Given the description of an element on the screen output the (x, y) to click on. 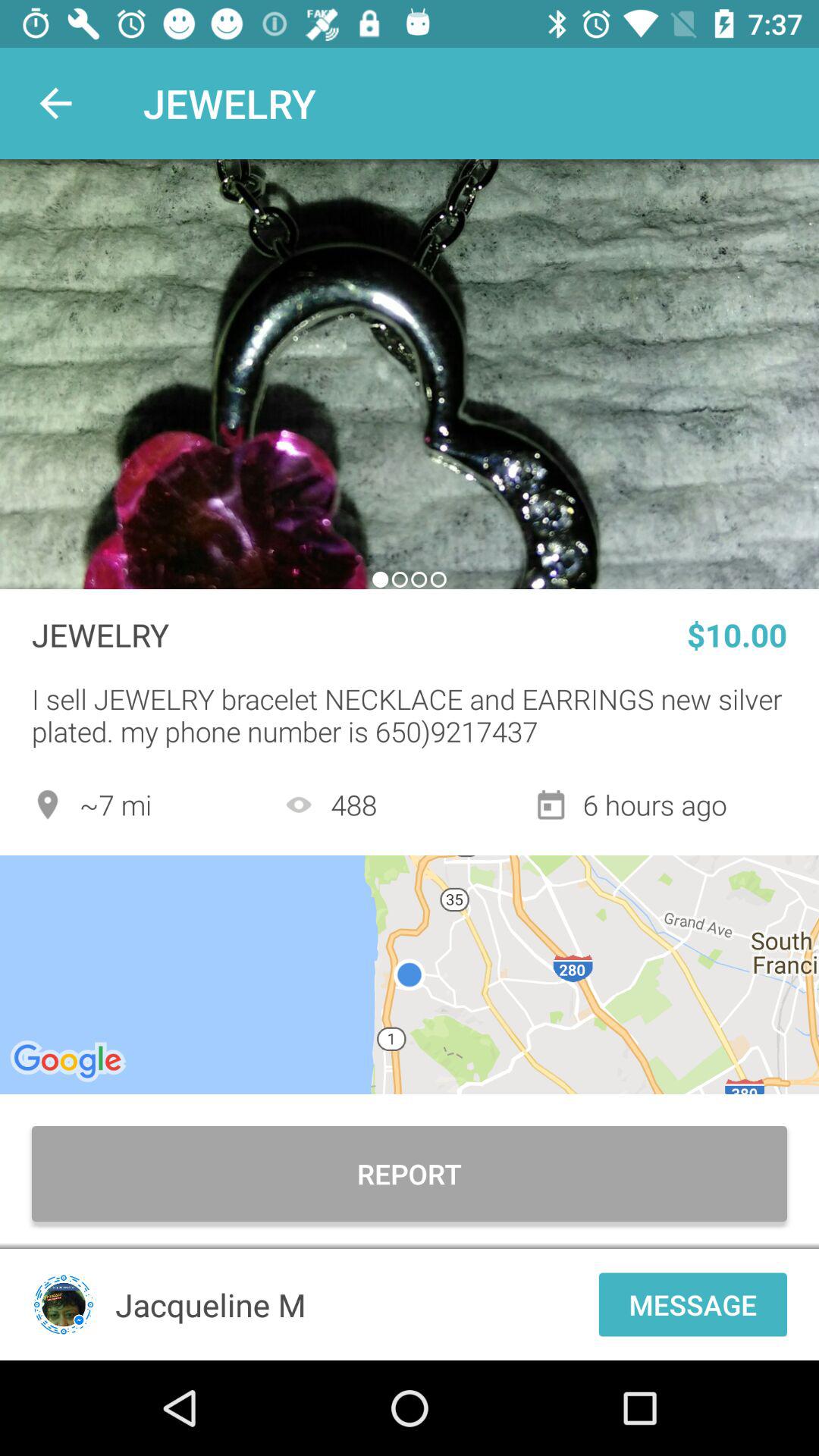
turn off the icon above report (409, 974)
